Given the description of an element on the screen output the (x, y) to click on. 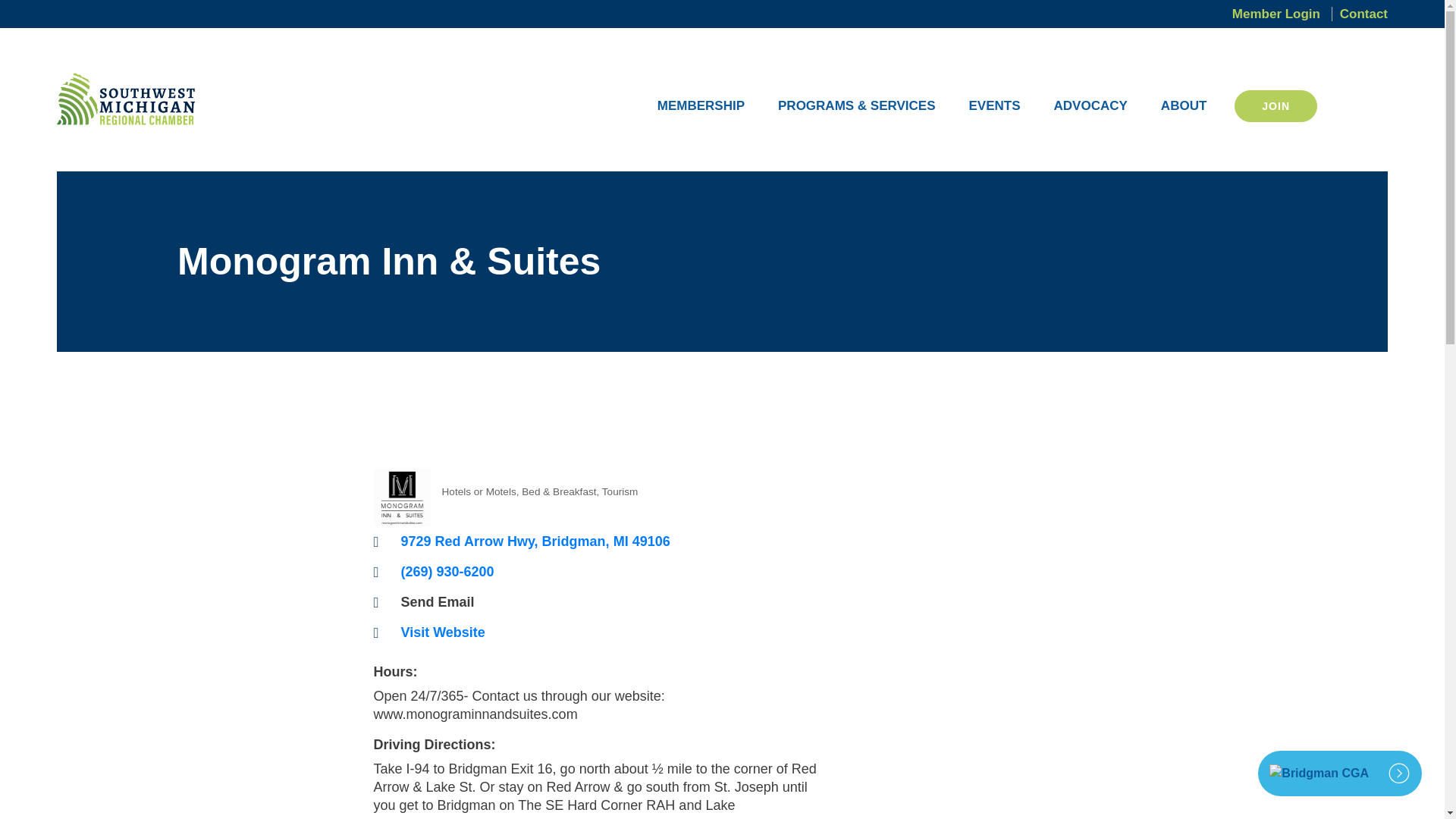
EVENTS (994, 105)
Contact (1359, 13)
Member Login (1279, 13)
Southwest Michigan Regional Chamber (125, 98)
MEMBERSHIP (700, 105)
